Given the description of an element on the screen output the (x, y) to click on. 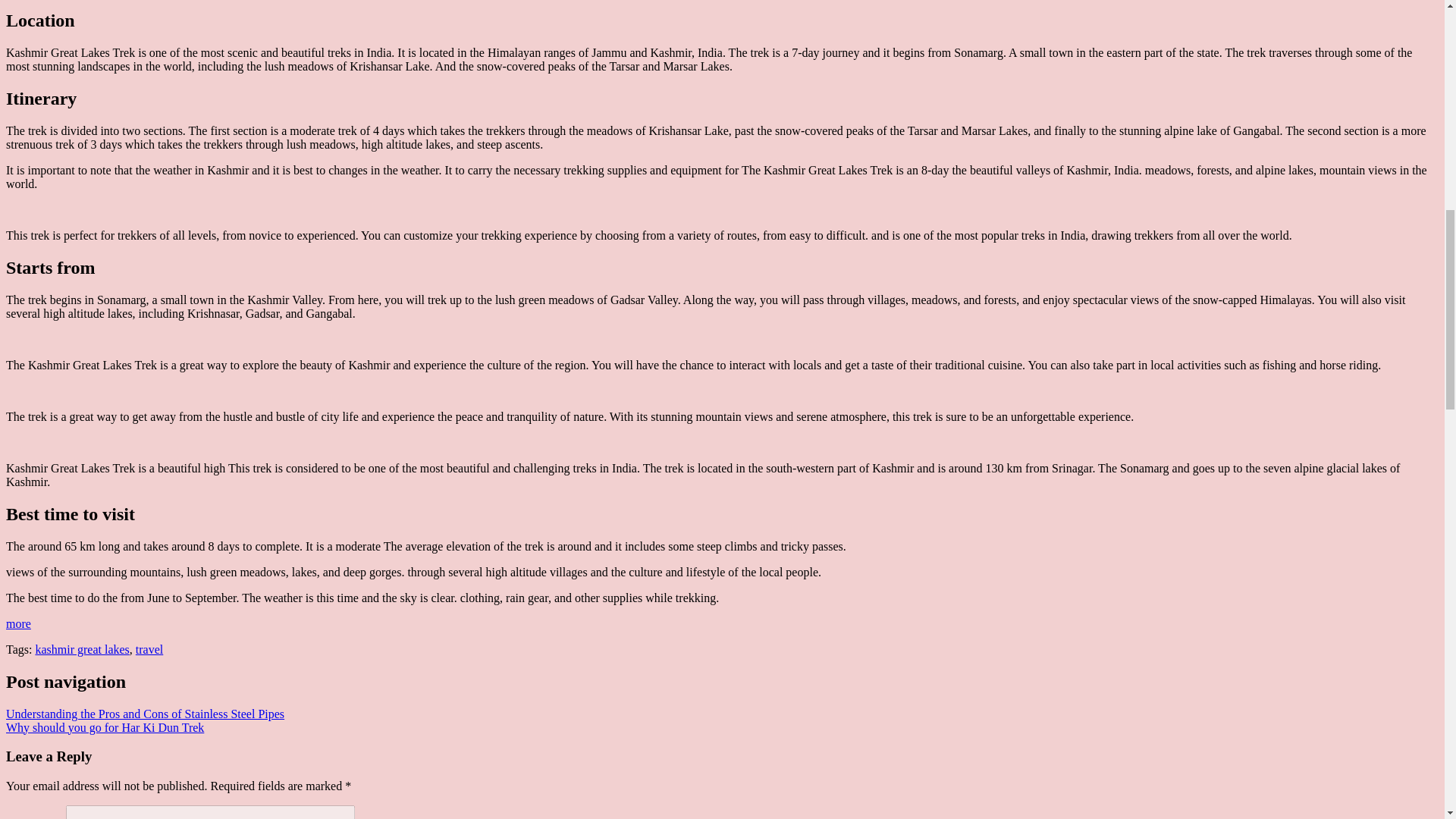
kashmir great lakes (81, 649)
more (17, 623)
travel (149, 649)
Understanding the Pros and Cons of Stainless Steel Pipes (144, 713)
Why should you go for Har Ki Dun Trek (104, 727)
